Given the description of an element on the screen output the (x, y) to click on. 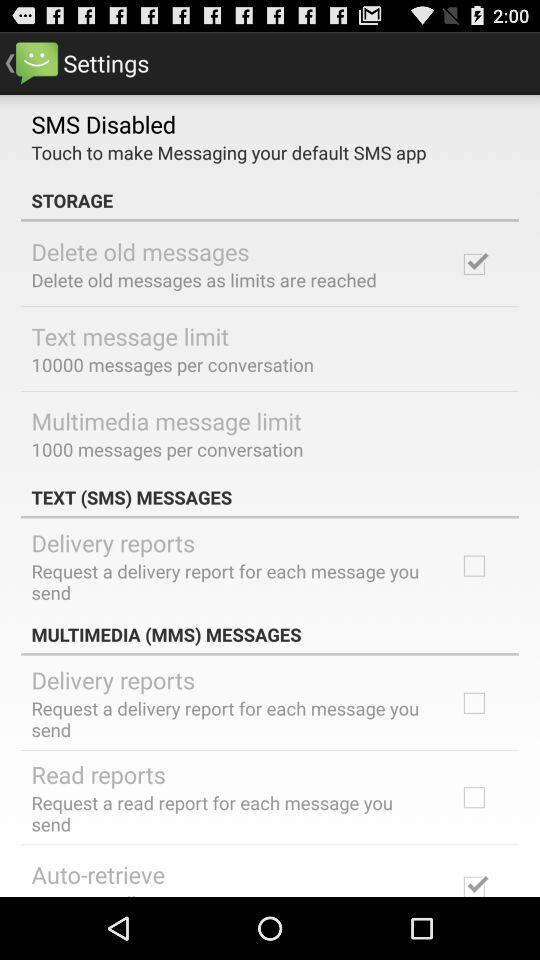
flip to the read reports app (98, 774)
